Given the description of an element on the screen output the (x, y) to click on. 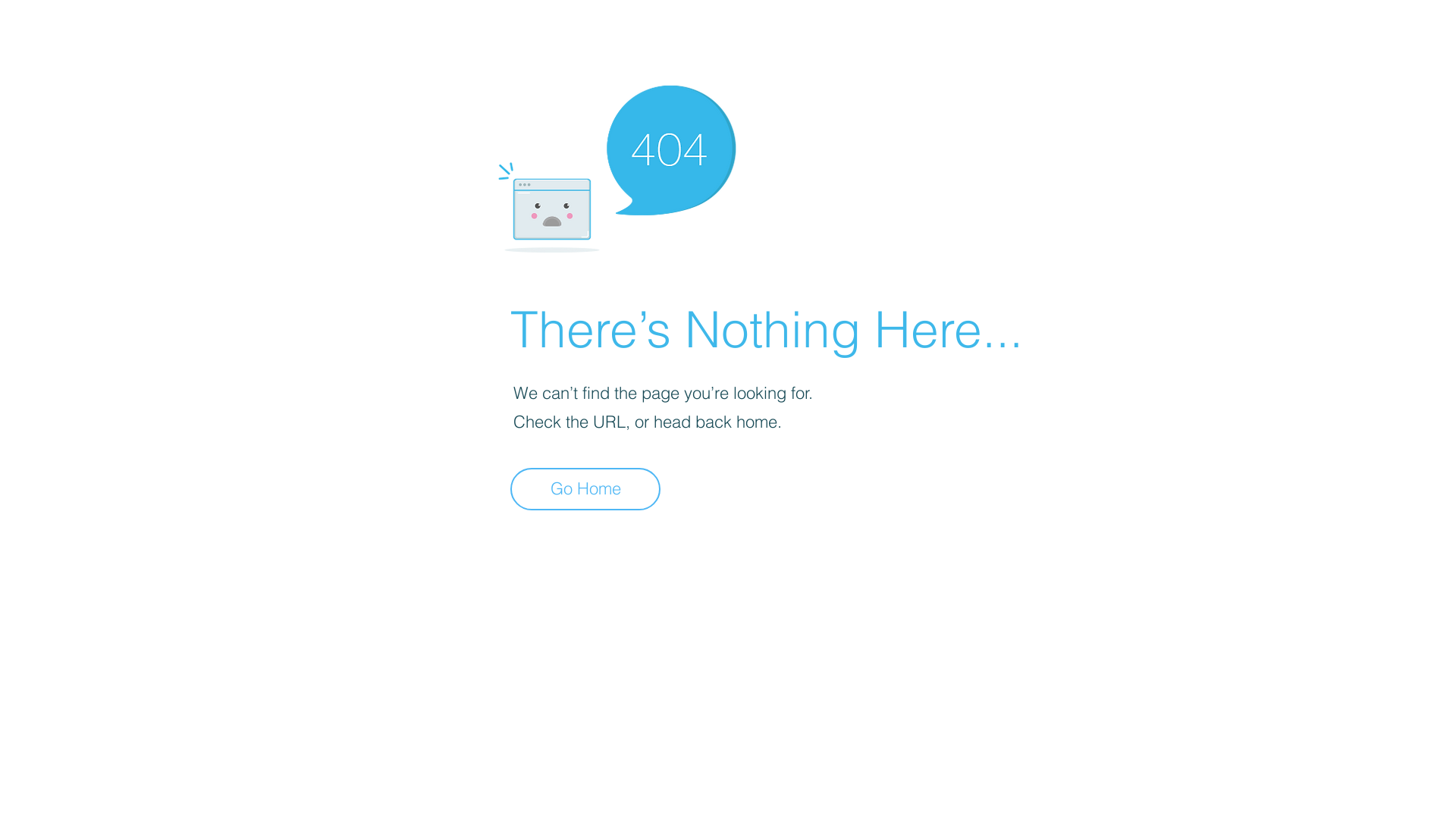
404-icon_2.png Element type: hover (616, 164)
Go Home Element type: text (585, 488)
